Given the description of an element on the screen output the (x, y) to click on. 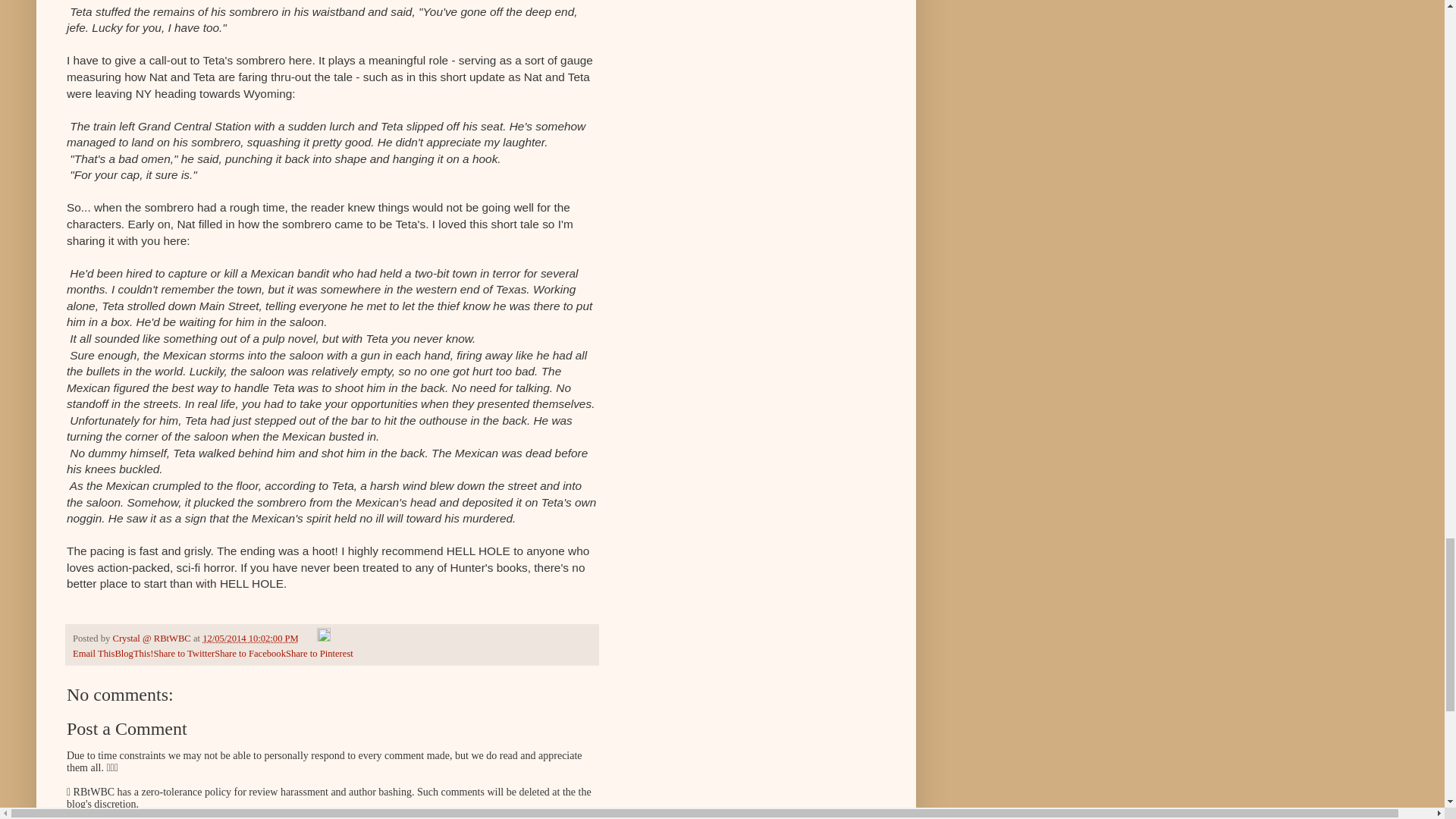
permanent link (250, 638)
Share to Twitter (183, 653)
Email Post (309, 638)
Share to Facebook (249, 653)
Email This (93, 653)
Share to Facebook (249, 653)
Email This (93, 653)
Share to Twitter (183, 653)
author profile (152, 638)
Share to Pinterest (319, 653)
